Given the description of an element on the screen output the (x, y) to click on. 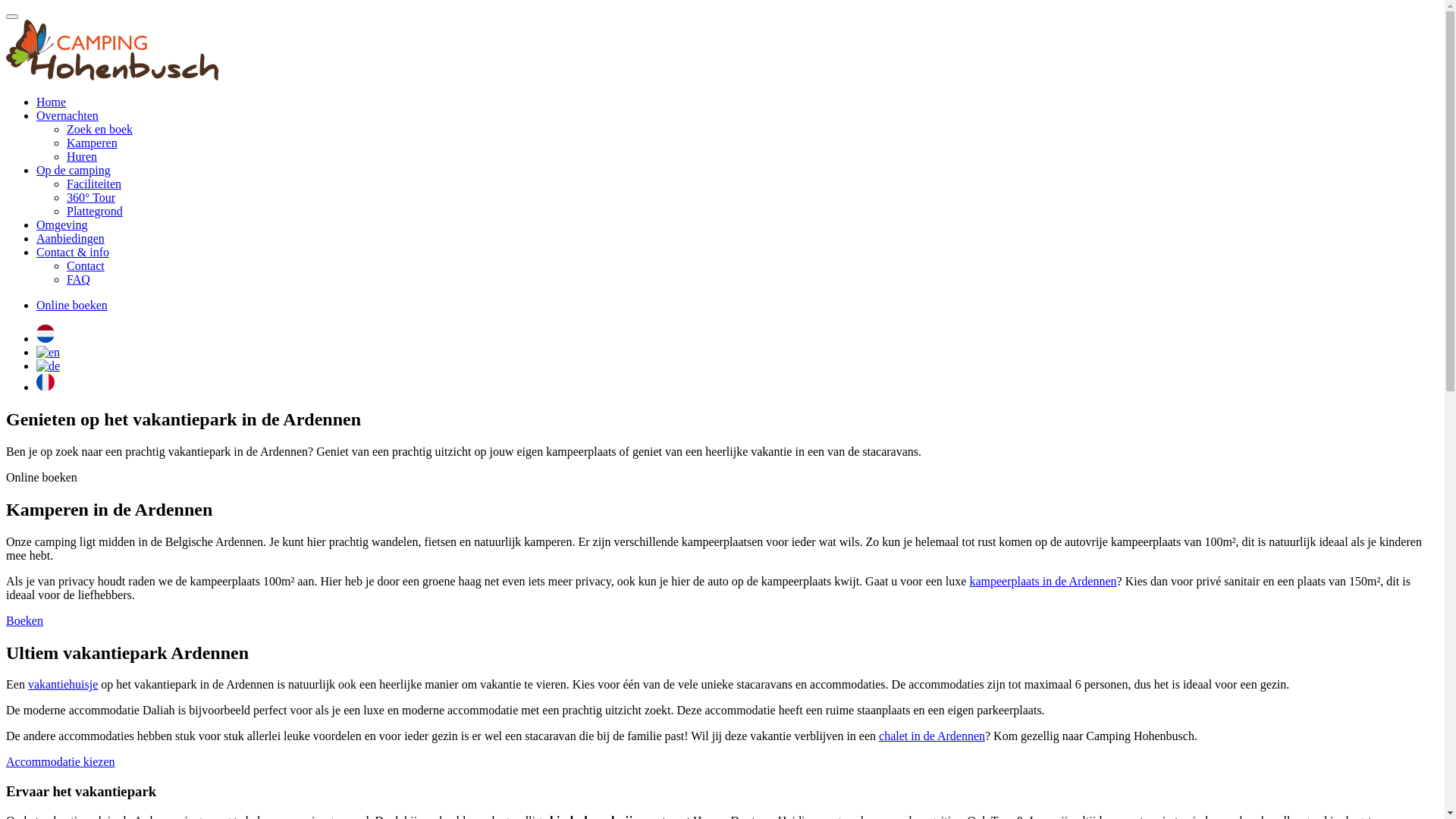
Omgeving Element type: text (61, 224)
vakantiehuisje Element type: text (62, 683)
kampeerplaats in de Ardennen Element type: text (1042, 580)
Faciliteiten Element type: text (93, 183)
Overnachten Element type: text (67, 115)
Op de camping Element type: text (73, 169)
chalet in de Ardennen Element type: text (931, 735)
FAQ Element type: text (78, 279)
Kamperen Element type: text (91, 142)
Contact & info Element type: text (72, 251)
Contact Element type: text (85, 265)
Zoek en boek Element type: text (99, 128)
Plattegrond Element type: text (94, 210)
Home Element type: text (50, 101)
Accommodatie kiezen Element type: text (60, 761)
Huren Element type: text (81, 156)
Aanbiedingen Element type: text (70, 238)
Online boeken Element type: text (71, 304)
Boeken Element type: text (24, 620)
